Given the description of an element on the screen output the (x, y) to click on. 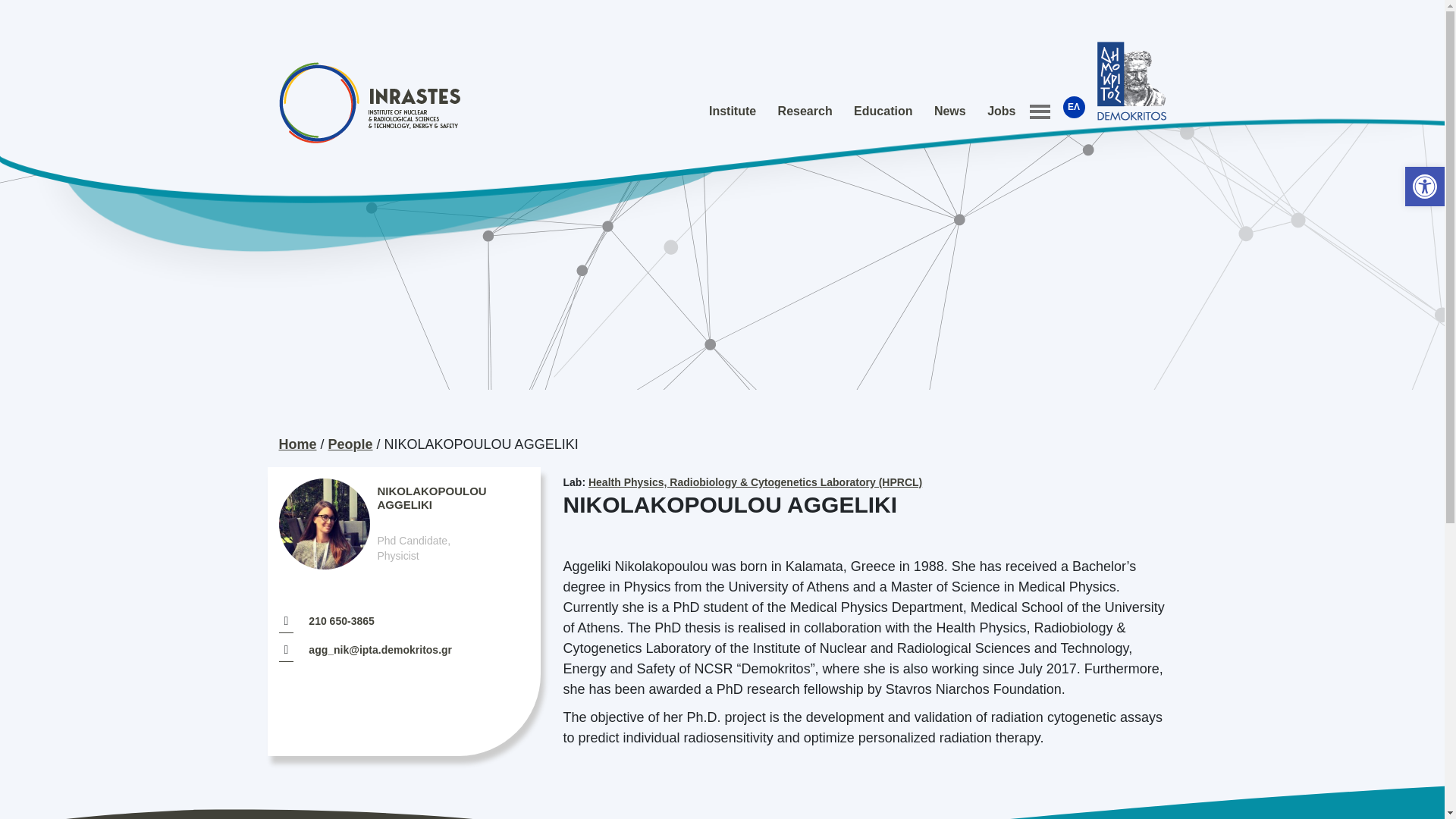
Research (804, 110)
Jobs (1001, 110)
Education (882, 110)
210 650-3865 (341, 621)
People (350, 444)
Home (298, 444)
Institute (732, 110)
News (949, 110)
